Given the description of an element on the screen output the (x, y) to click on. 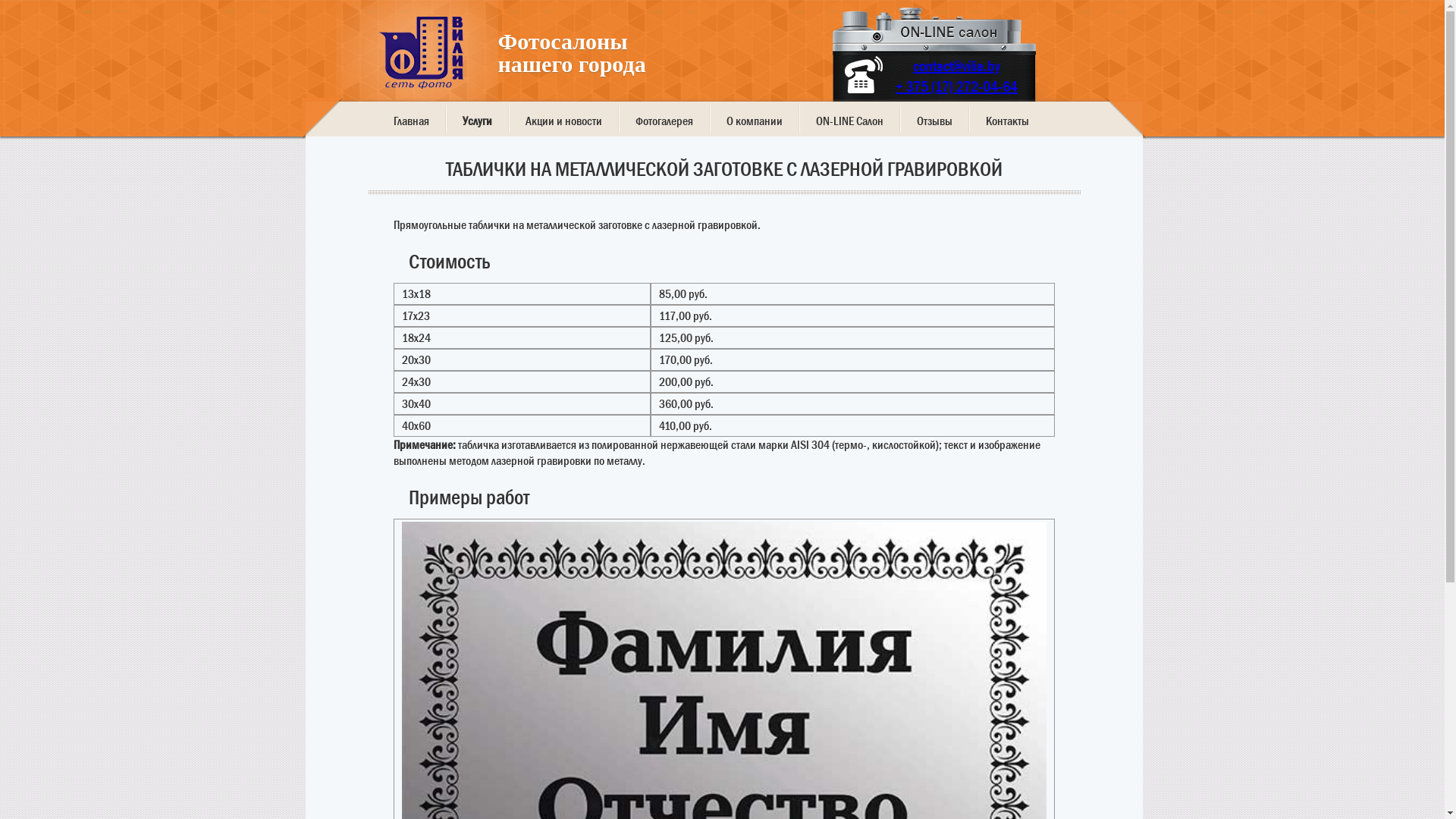
+ 375 (17) 272-04-64 Element type: text (956, 86)
contact@vilia.by Element type: text (956, 66)
